Given the description of an element on the screen output the (x, y) to click on. 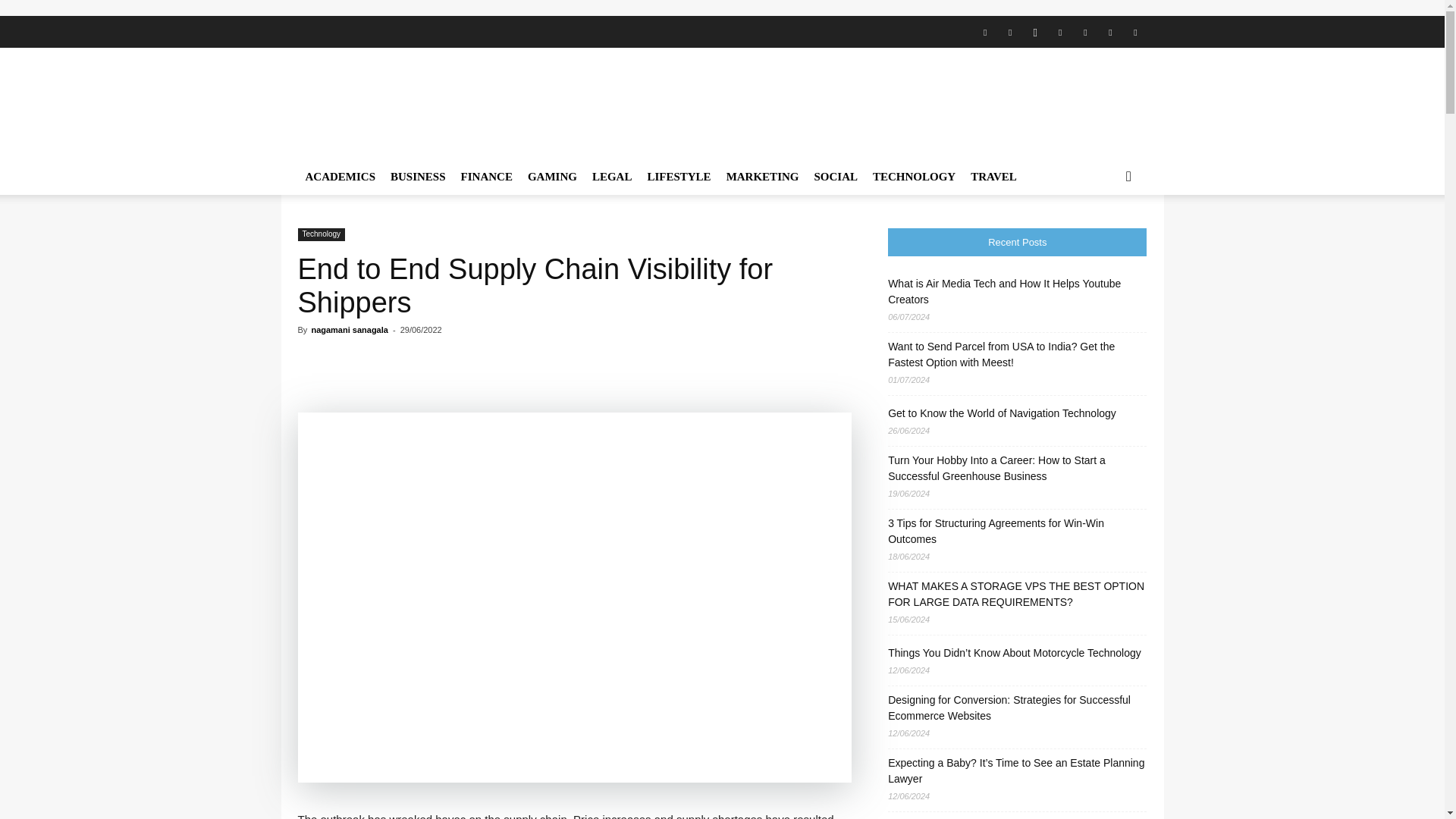
HowToCrazy.Com (426, 102)
